Given the description of an element on the screen output the (x, y) to click on. 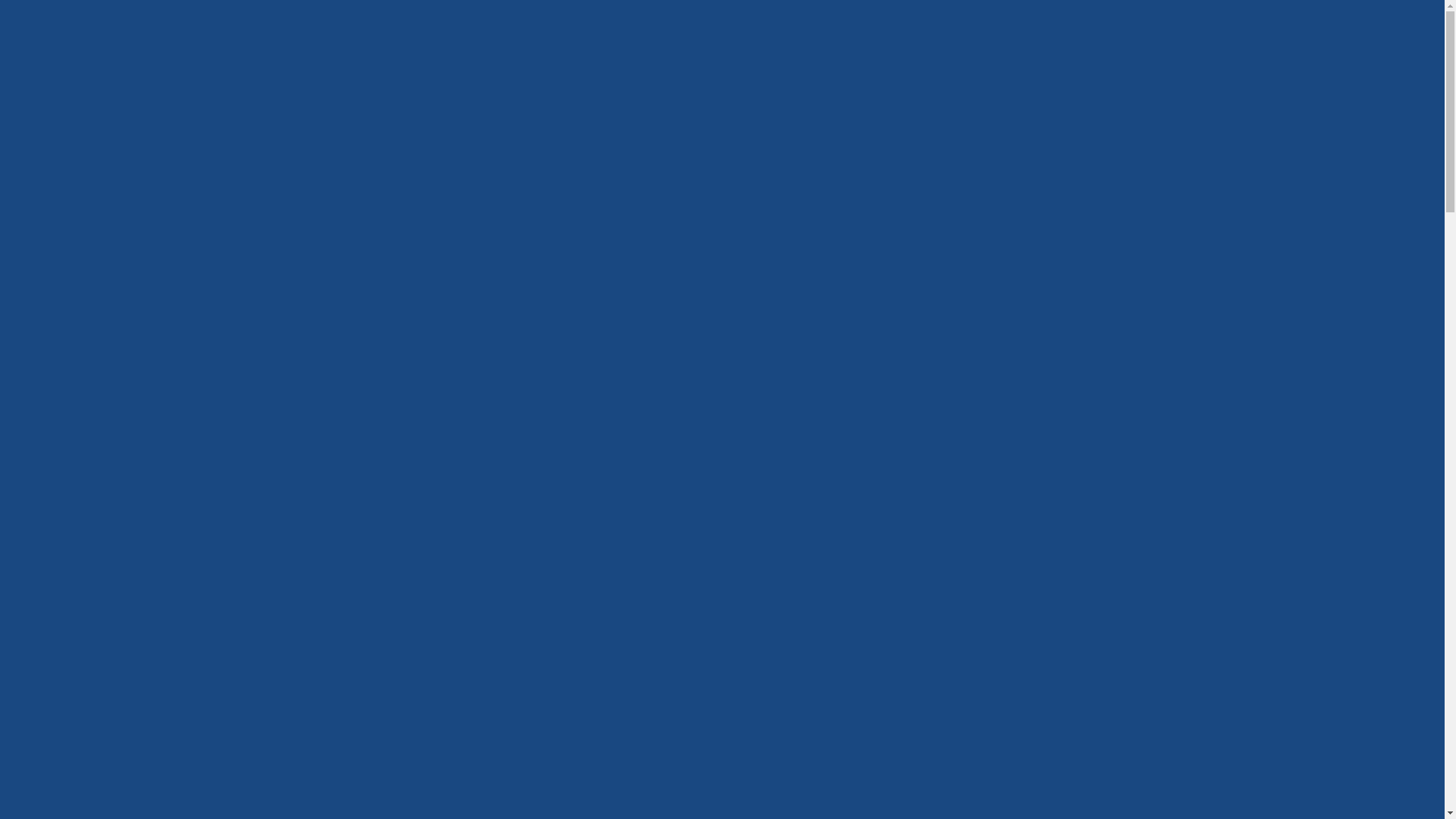
Bureau d'information juridique Element type: hover (218, 87)
Suivez-nous Element type: hover (1126, 86)
Nous joindre Element type: text (748, 87)
Services Element type: text (657, 87)
418-656-7211 Element type: text (949, 107)
Suivez-nous Element type: hover (1161, 86)
Services Element type: hover (1124, 620)
Suivez-nous Element type: hover (1091, 86)
